Given the description of an element on the screen output the (x, y) to click on. 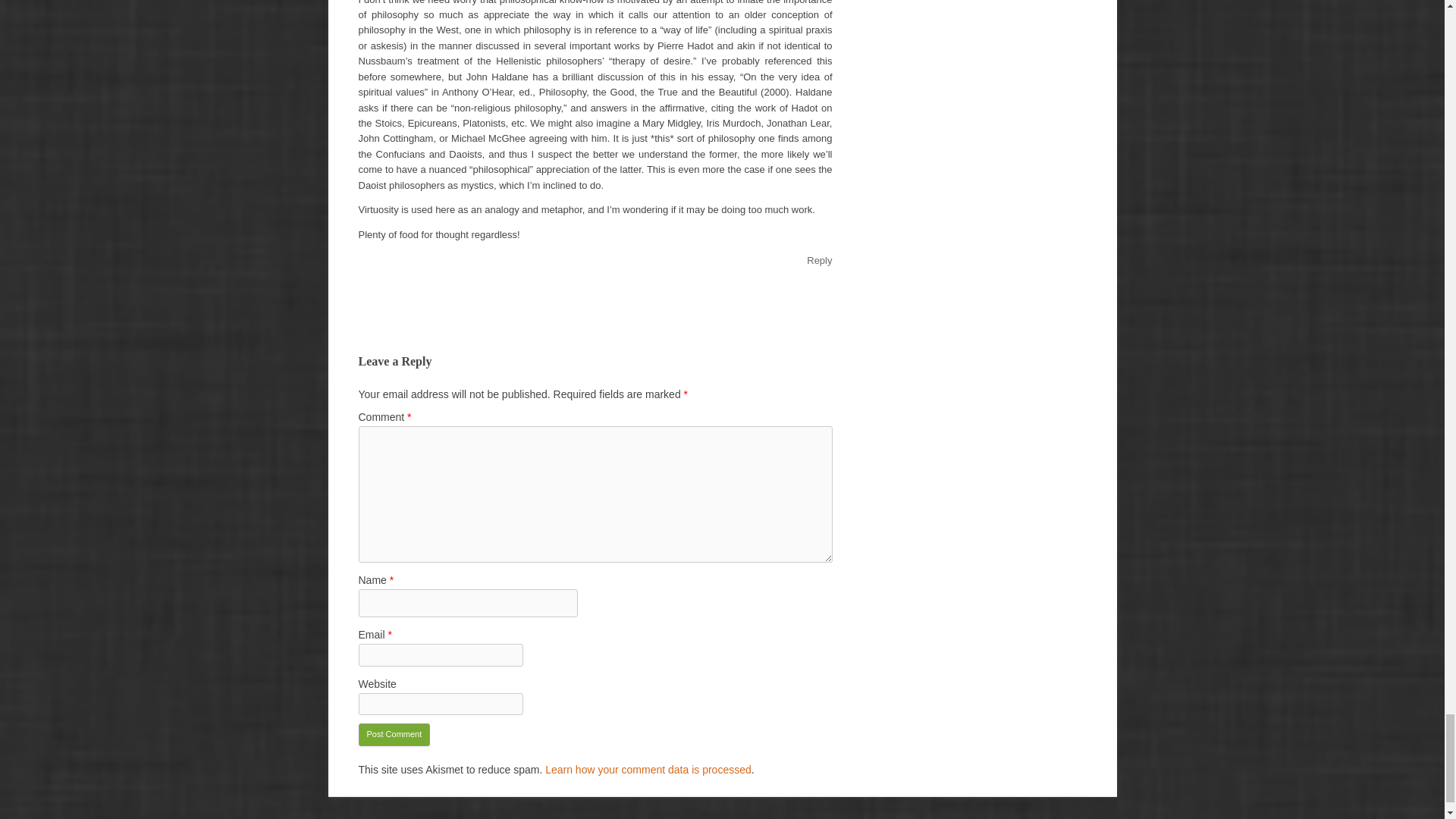
Post Comment (393, 734)
